Given the description of an element on the screen output the (x, y) to click on. 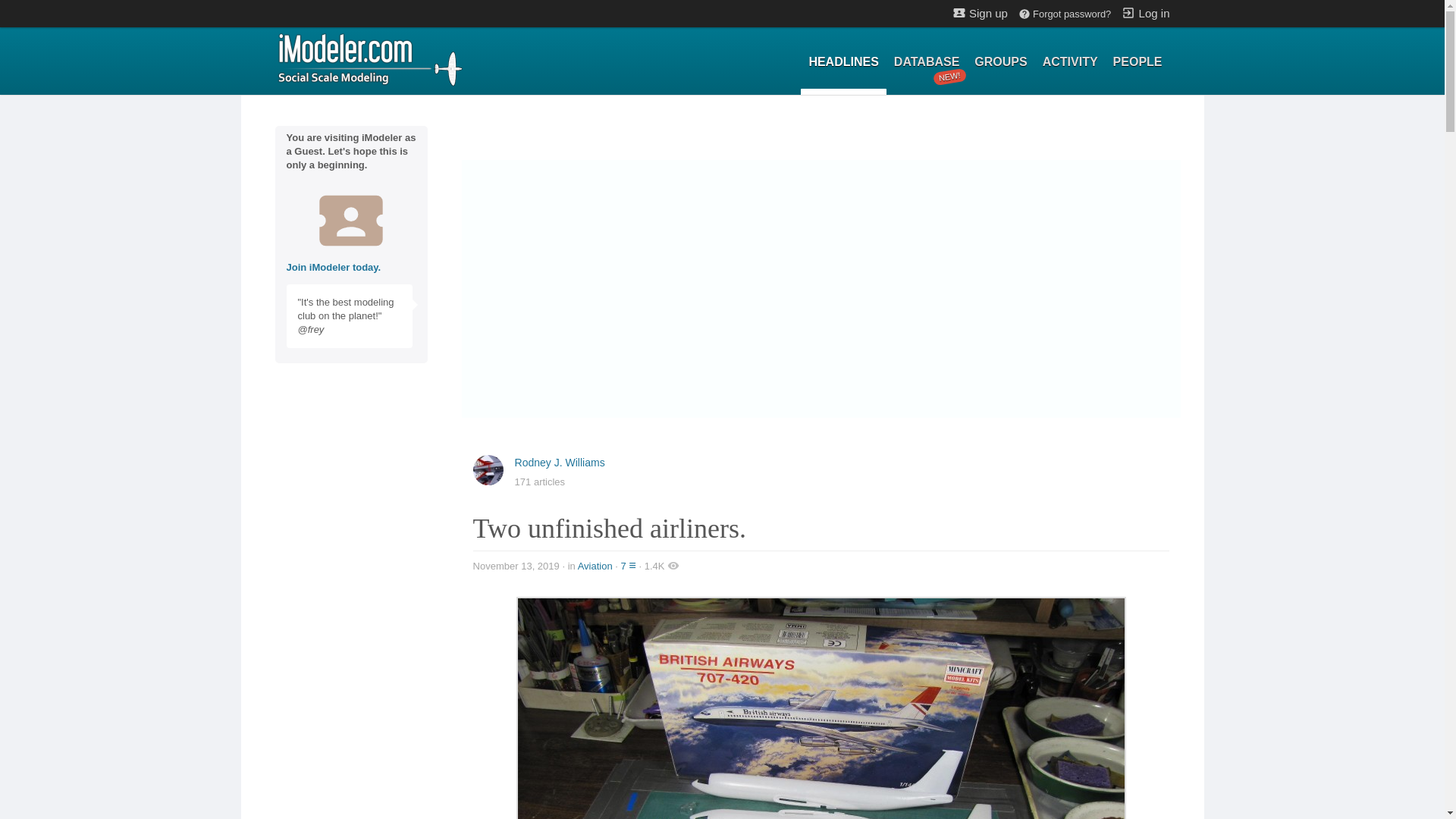
Aviation (595, 565)
Home (369, 58)
Forgot password? (1063, 13)
ACTIVITY (1070, 61)
Rodney J. Williams (560, 462)
GROUPS (927, 61)
Log in (999, 61)
Advertisement (1145, 12)
